Given the description of an element on the screen output the (x, y) to click on. 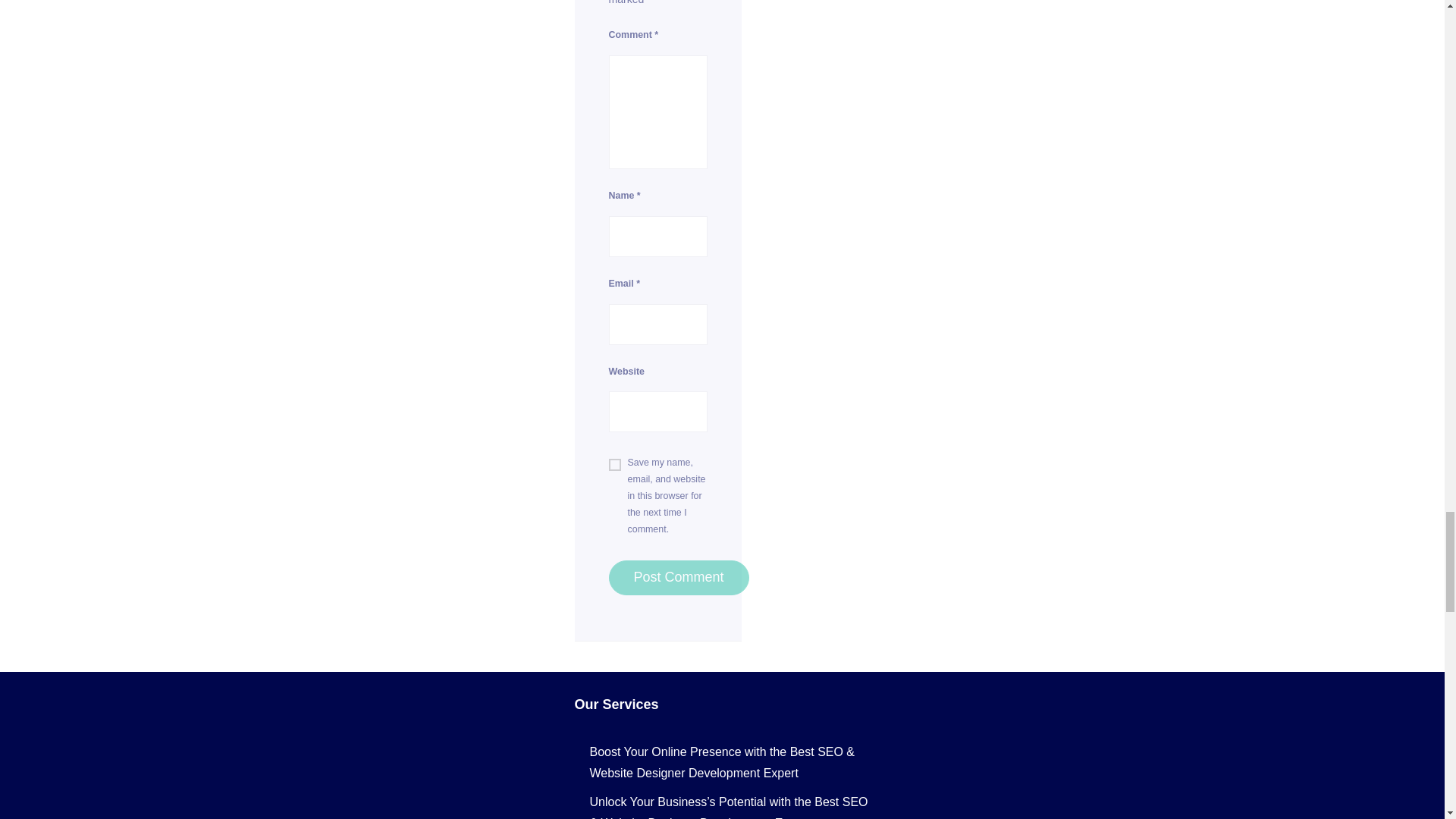
Post Comment (678, 577)
